Given the description of an element on the screen output the (x, y) to click on. 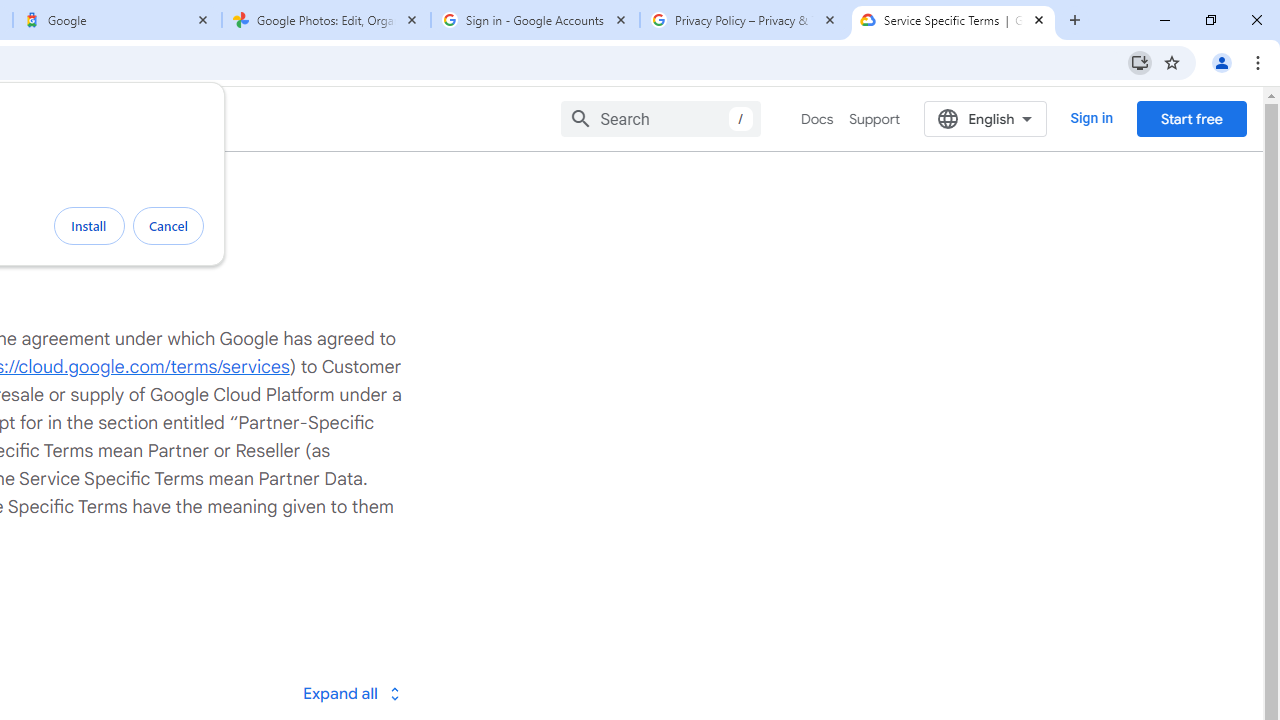
Docs (817, 119)
Start free (1191, 118)
Cancel (168, 225)
English (985, 118)
Toggle all (351, 692)
